Given the description of an element on the screen output the (x, y) to click on. 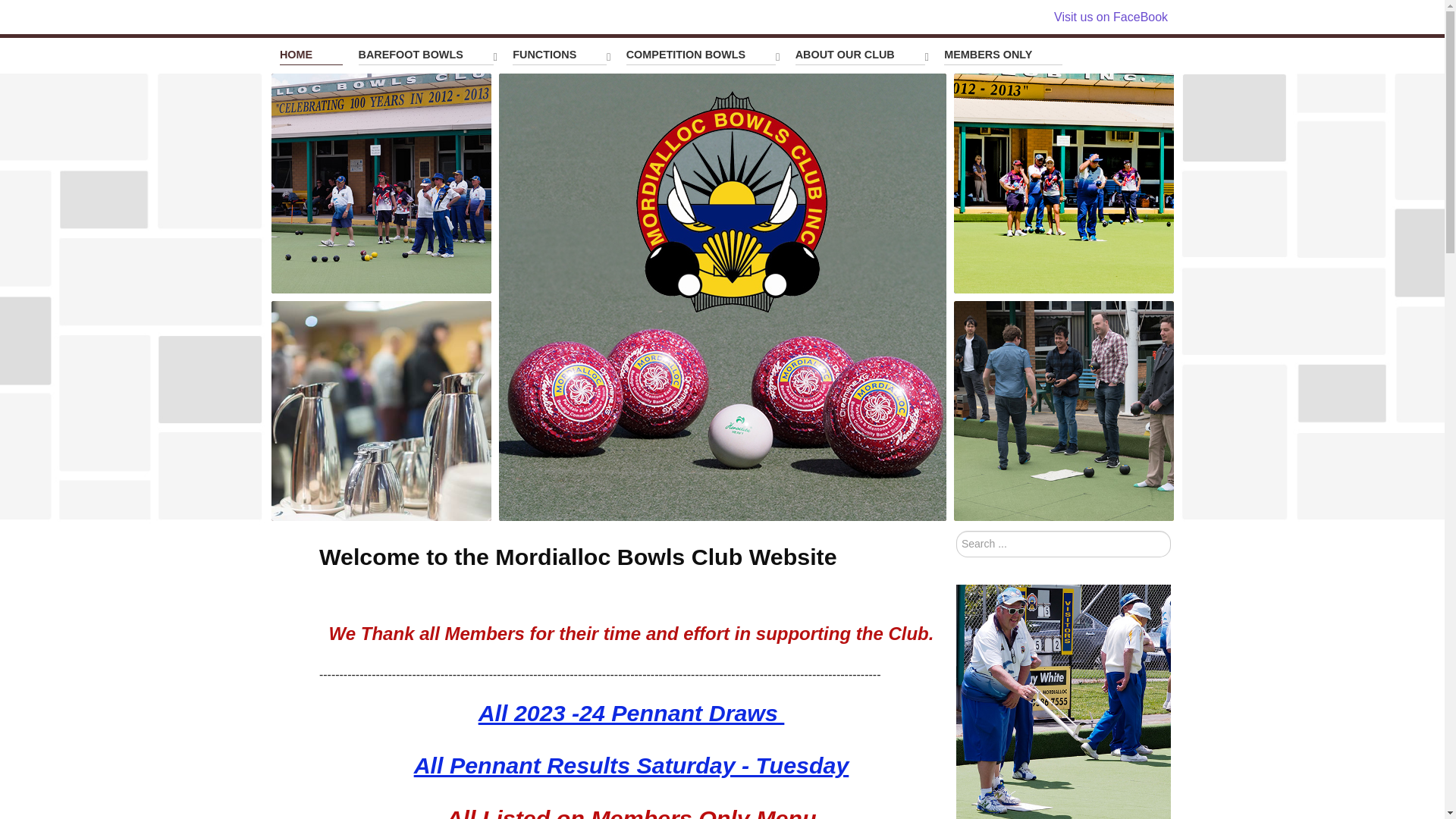
COMPETITION BOWLS Element type: text (703, 55)
Visit us on FaceBook Element type: text (1110, 16)
HOME Element type: text (310, 54)
BAREFOOT BOWLS Element type: text (427, 55)
FUNCTIONS Element type: text (561, 55)
ABOUT OUR CLUB Element type: text (861, 55)
MEMBERS ONLY Element type: text (1003, 54)
